Given the description of an element on the screen output the (x, y) to click on. 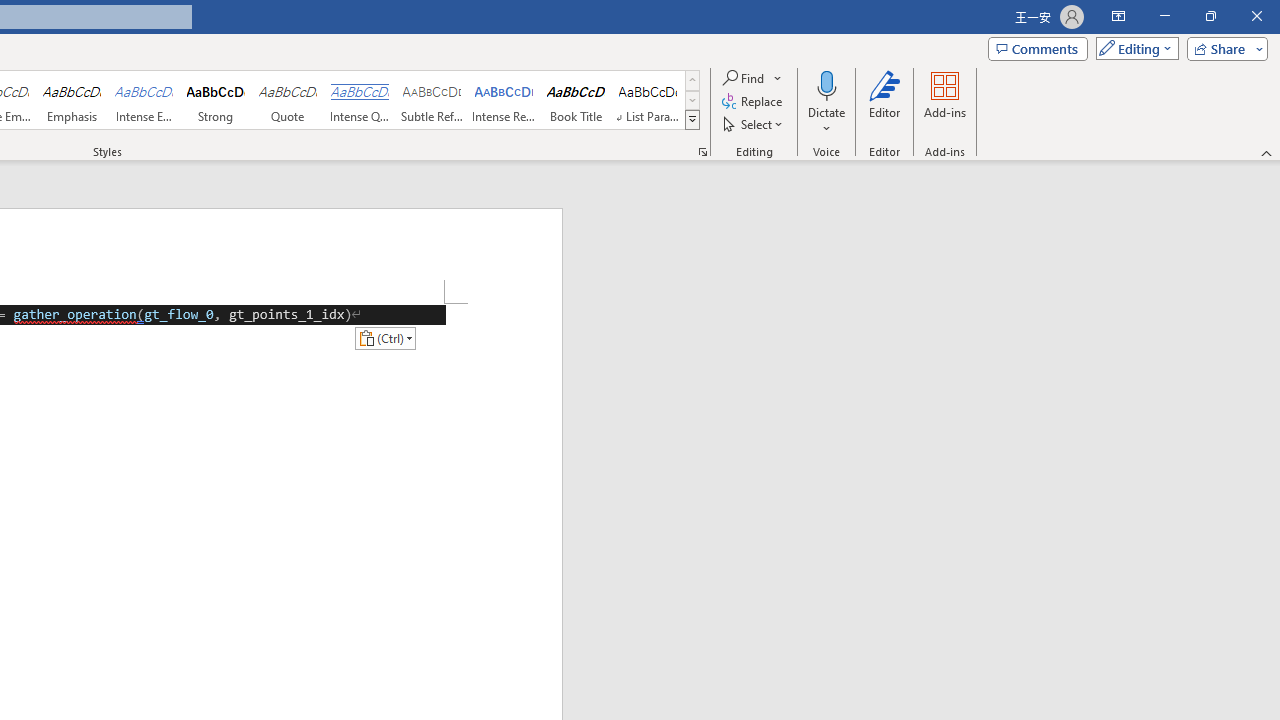
Intense Quote (359, 100)
